Given the description of an element on the screen output the (x, y) to click on. 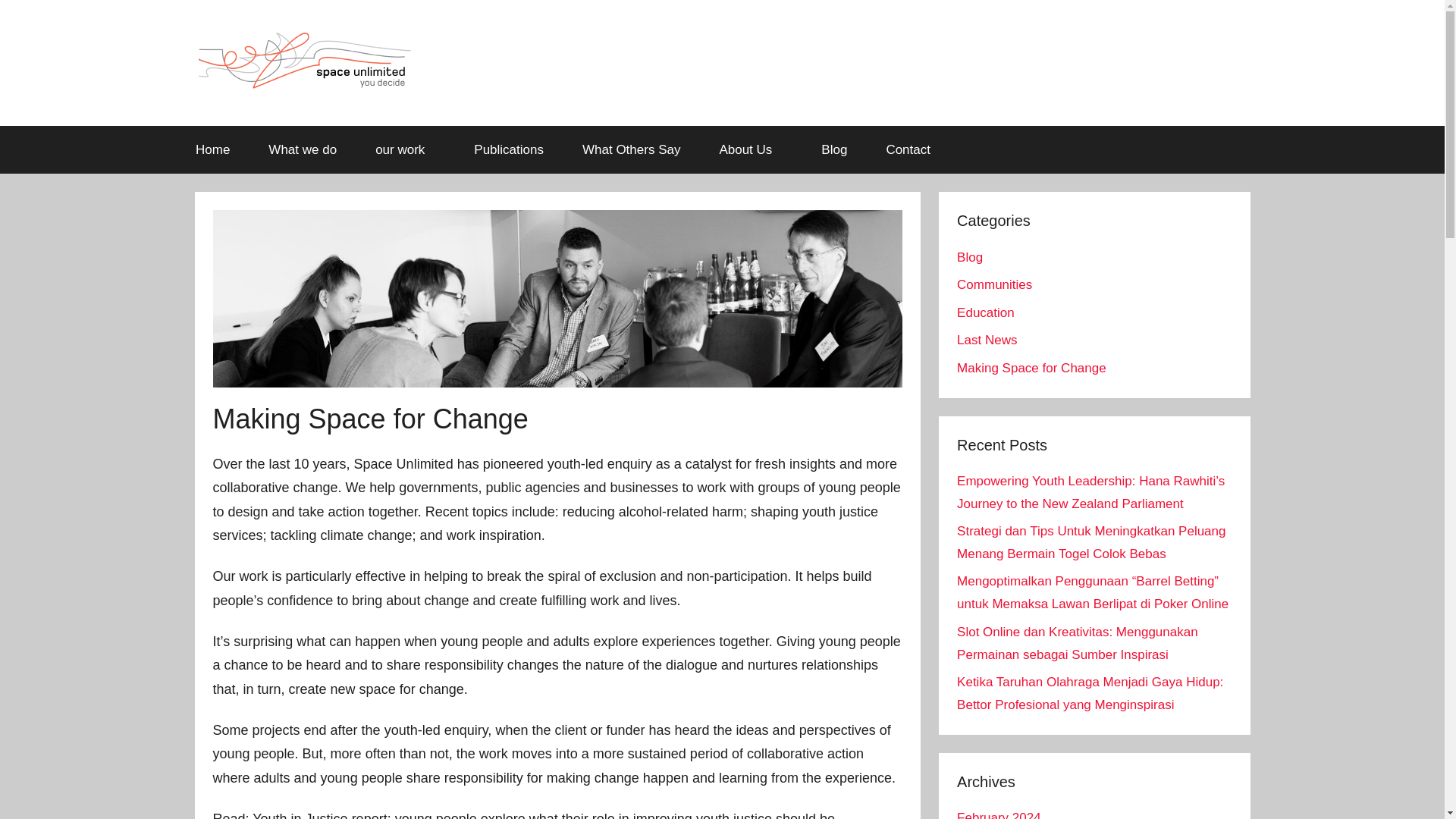
Last News (986, 339)
About Us (751, 150)
Education (985, 312)
Blog (969, 257)
February 2024 (998, 814)
What Others Say (630, 150)
What we do (302, 150)
Contact (908, 150)
Communities (994, 284)
